Given the description of an element on the screen output the (x, y) to click on. 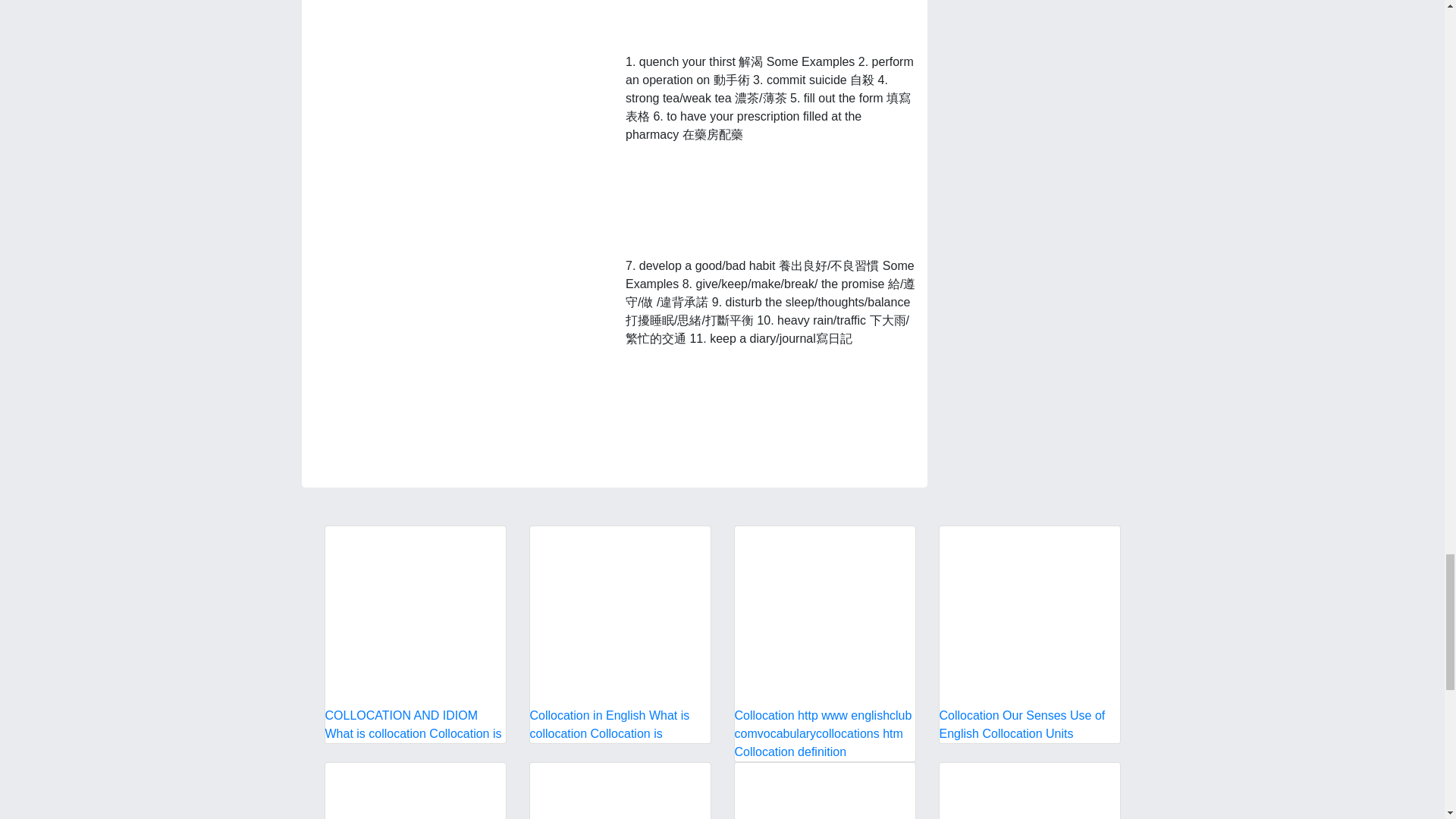
Word collocations What is a Collocation A COLLOCATION (414, 790)
Definition of net CDF files for collocation datasets (823, 790)
